Given the description of an element on the screen output the (x, y) to click on. 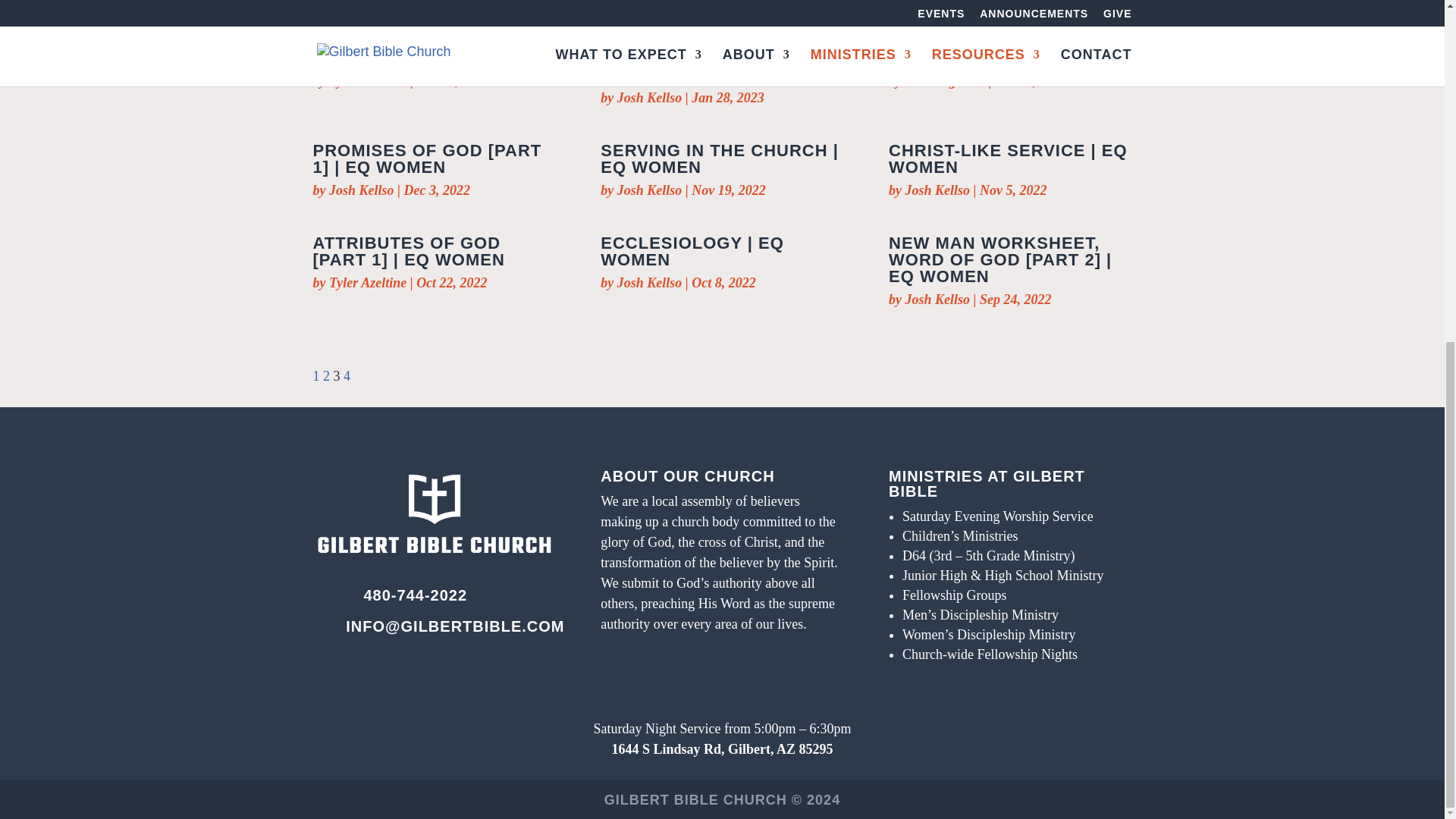
Tyler Azeltine (367, 80)
Posts by Josh Kellso (938, 190)
Posts by Tyler Azeltine (367, 282)
Posts by Josh Kellso (361, 190)
Posts by Josh Kellso (938, 299)
Posts by Tyler Azeltine (367, 80)
Posts by Josh Kellso (649, 190)
Tom Angstead (945, 80)
Posts by Josh Kellso (649, 97)
Josh Kellso (649, 97)
